Given the description of an element on the screen output the (x, y) to click on. 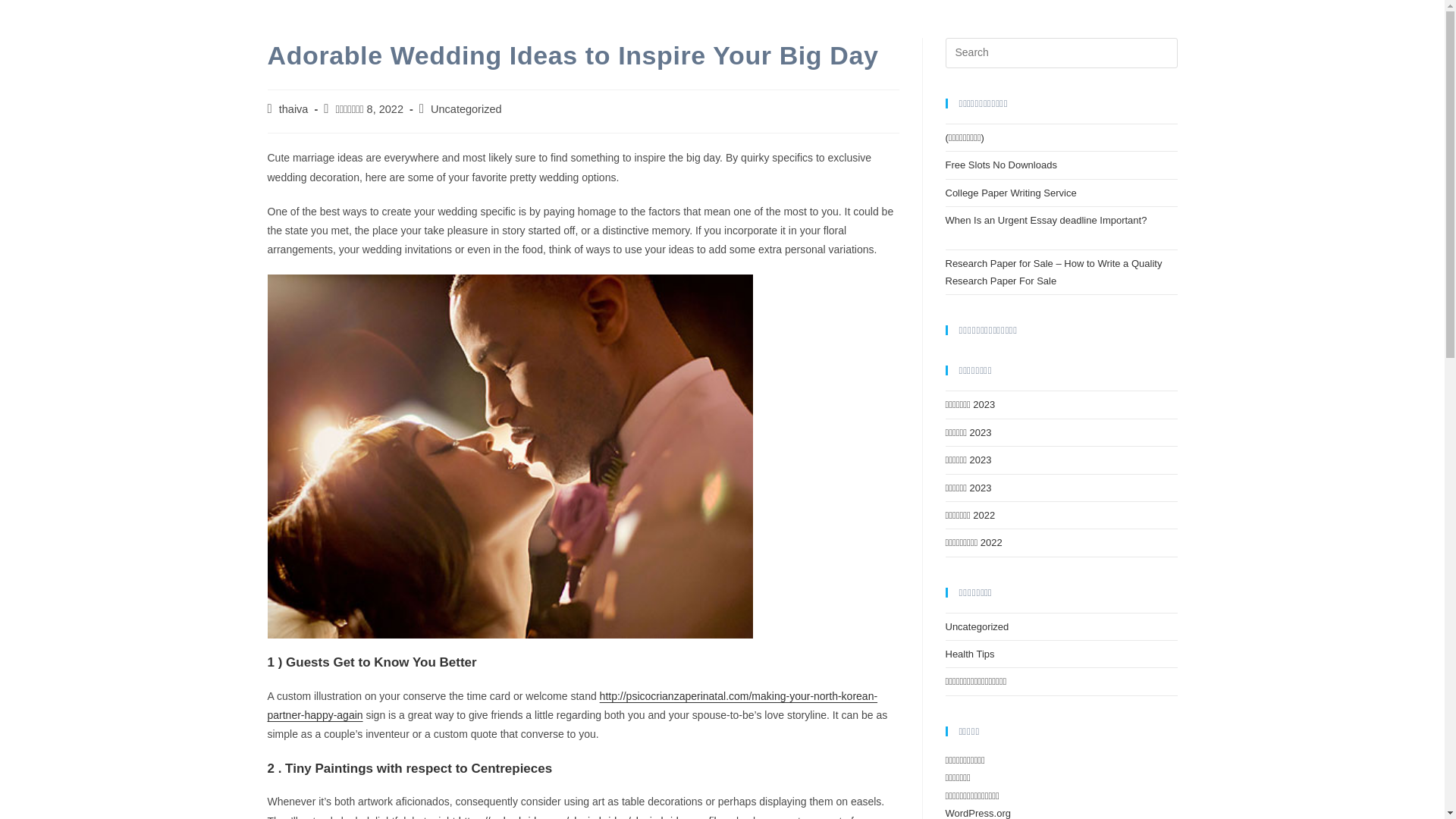
College Paper Writing Service (1009, 193)
Uncategorized (466, 109)
thaiva (293, 109)
When Is an Urgent Essay deadline Important? (1060, 229)
Free Slots No Downloads (1000, 164)
